Given the description of an element on the screen output the (x, y) to click on. 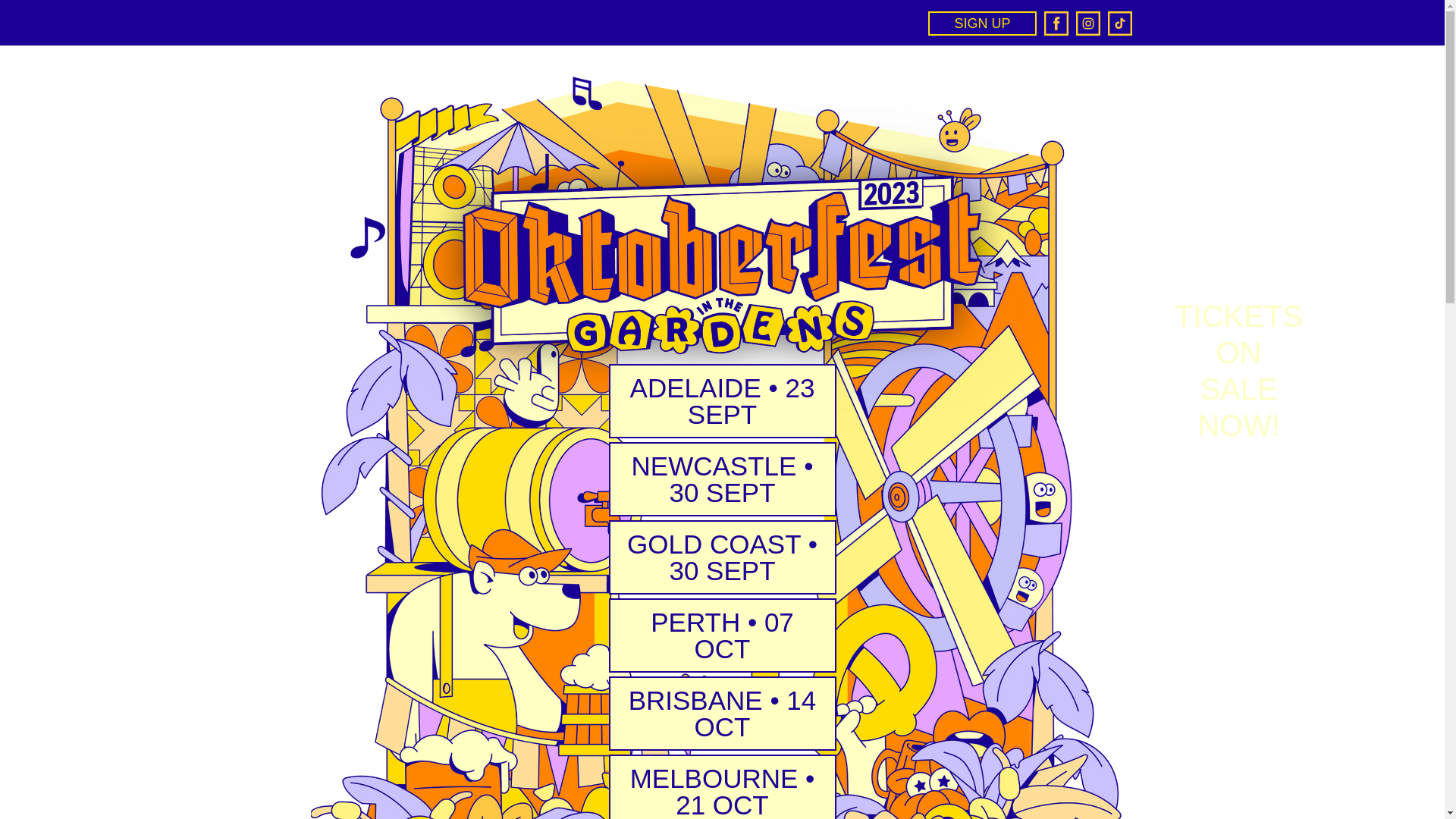
TikTok Element type: text (1119, 23)
TICKETS ON SALE NOW! Element type: text (1238, 370)
SIGN UP Element type: text (981, 23)
Facebook Element type: text (1055, 23)
Instagram Element type: text (1087, 23)
